Given the description of an element on the screen output the (x, y) to click on. 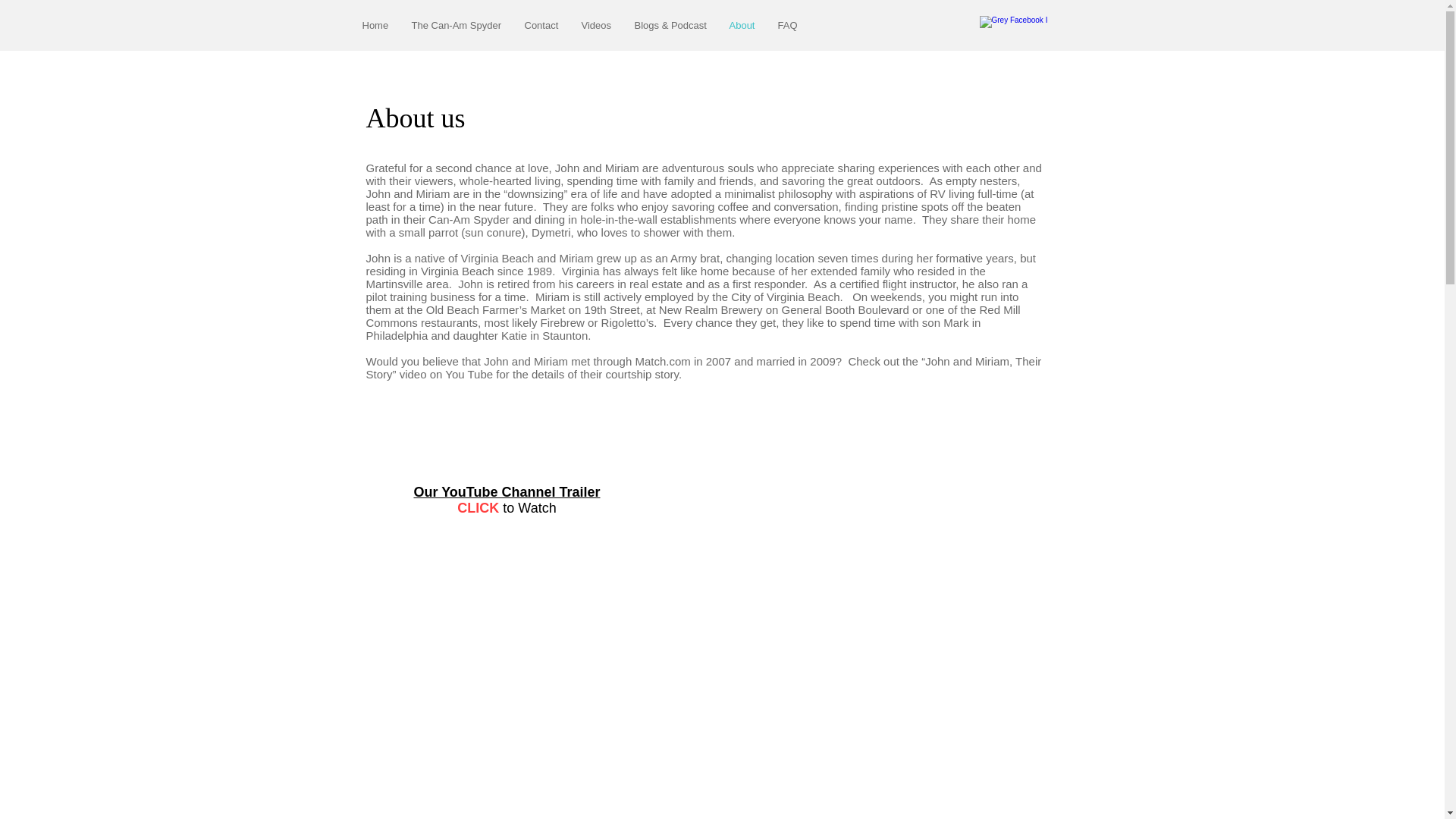
Videos (596, 25)
Home (374, 25)
The Can-Am Spyder (456, 25)
About (741, 25)
FAQ (786, 25)
Contact (540, 25)
